Given the description of an element on the screen output the (x, y) to click on. 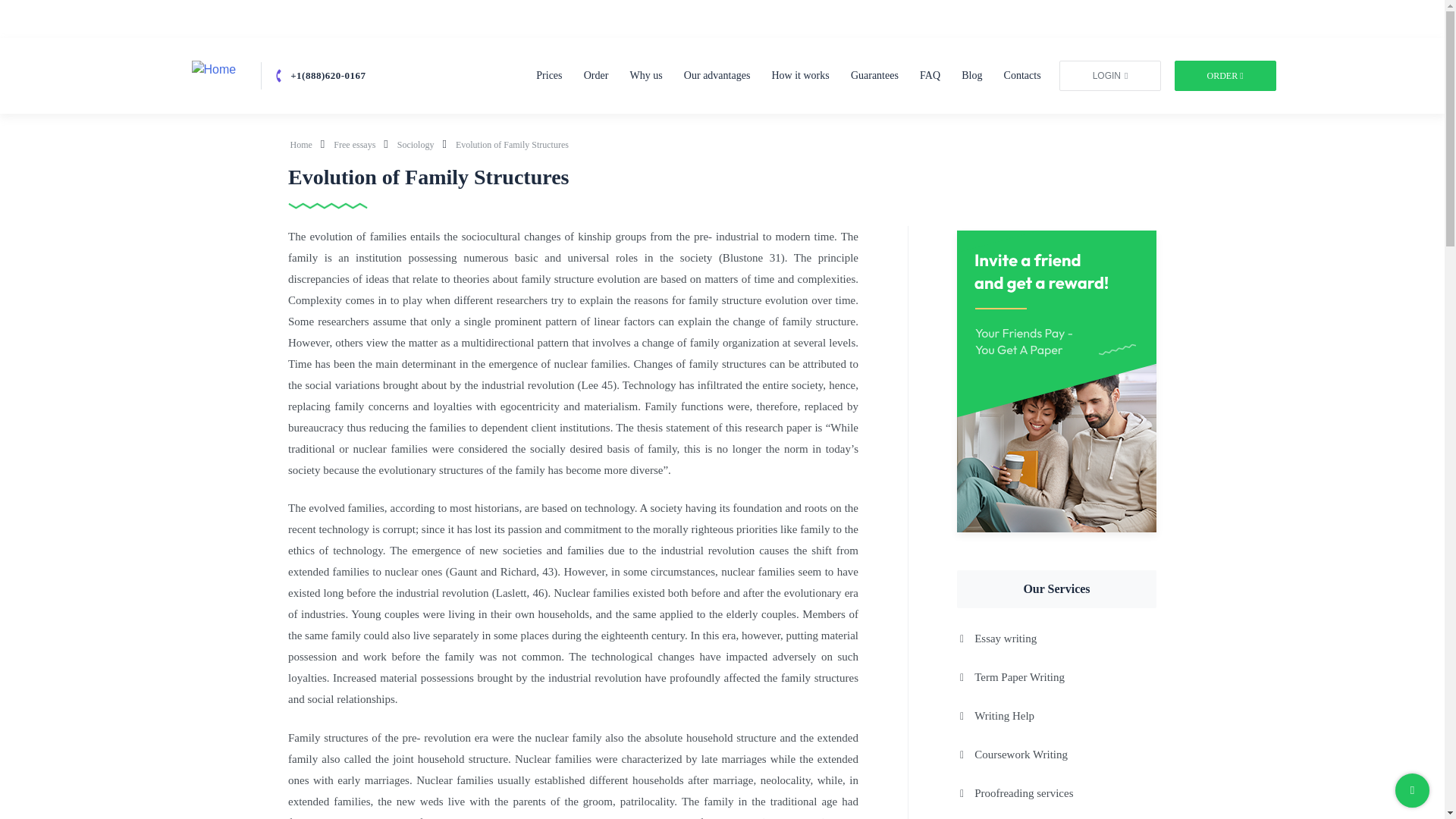
Free essays (355, 144)
Sociology (416, 144)
Our advantages (716, 75)
Blog (970, 75)
Contacts (1022, 75)
FAQ (930, 75)
Order (595, 75)
ORDER (1224, 75)
Guarantees (874, 75)
Home (301, 144)
How it works (800, 75)
Why us (646, 75)
Prices (548, 75)
